Given the description of an element on the screen output the (x, y) to click on. 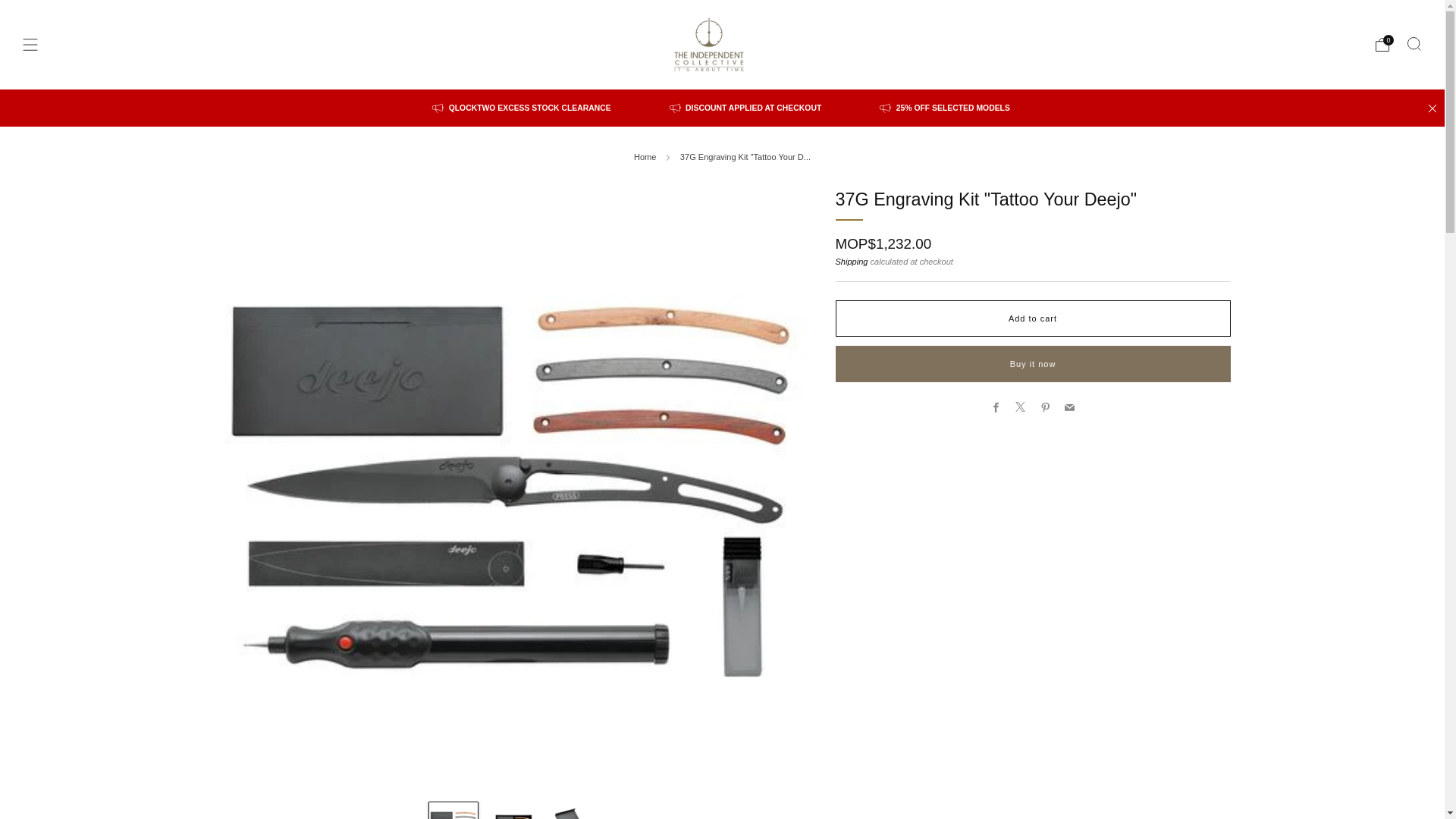
Home (644, 156)
0 (1382, 44)
